Given the description of an element on the screen output the (x, y) to click on. 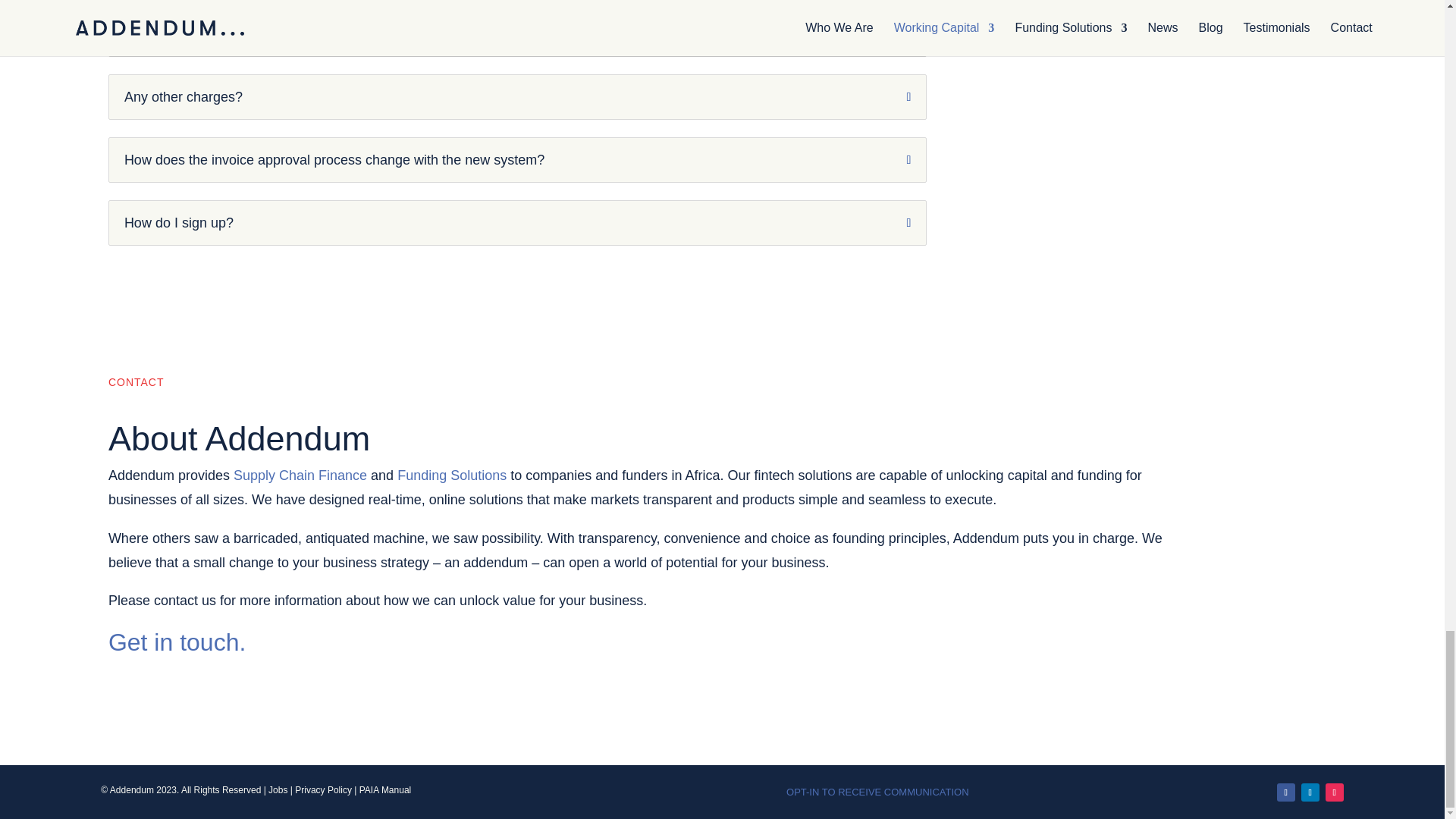
Follow on LinkedIn (1310, 791)
Follow on Facebook (1285, 791)
Funding Solutions (451, 475)
PAIA Manual (384, 789)
Supply Chain Finance (299, 475)
Privacy Policy (323, 789)
funding solutions (451, 475)
OPT-IN TO RECEIVE COMMUNICATION (877, 791)
Follow on Instagram (1333, 791)
supply chain finance (299, 475)
Get in touch. (176, 642)
Jobs (276, 789)
